Given the description of an element on the screen output the (x, y) to click on. 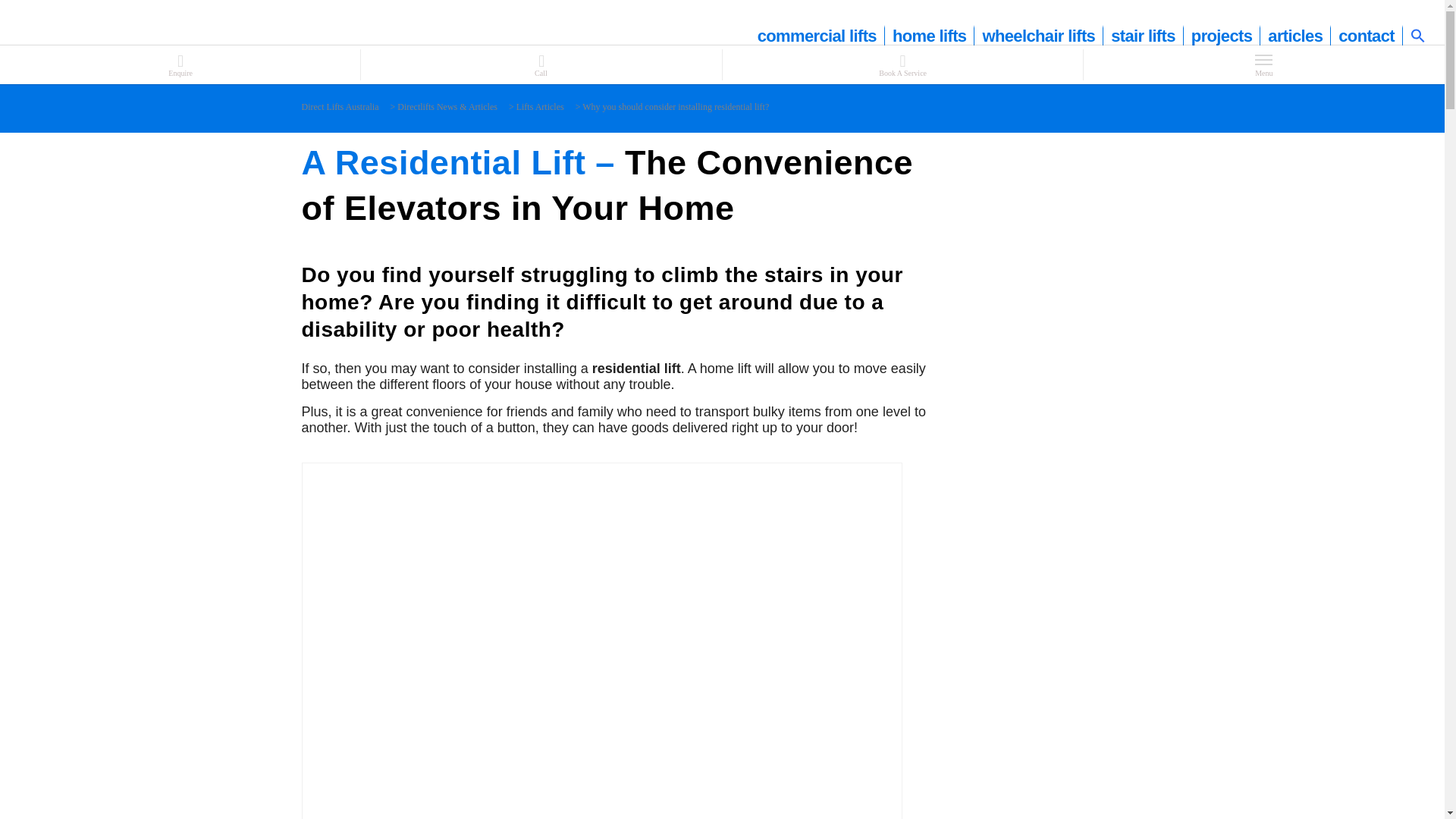
Home (339, 106)
wheelchair lifts (1038, 36)
projects (1221, 36)
Go to Why you should consider installing residential lift?. (675, 106)
Go to the Lifts Articles category archives. (540, 106)
commercial lifts (817, 36)
articles (1295, 36)
contact (1366, 36)
home lifts (930, 36)
stair lifts (1143, 36)
